Given the description of an element on the screen output the (x, y) to click on. 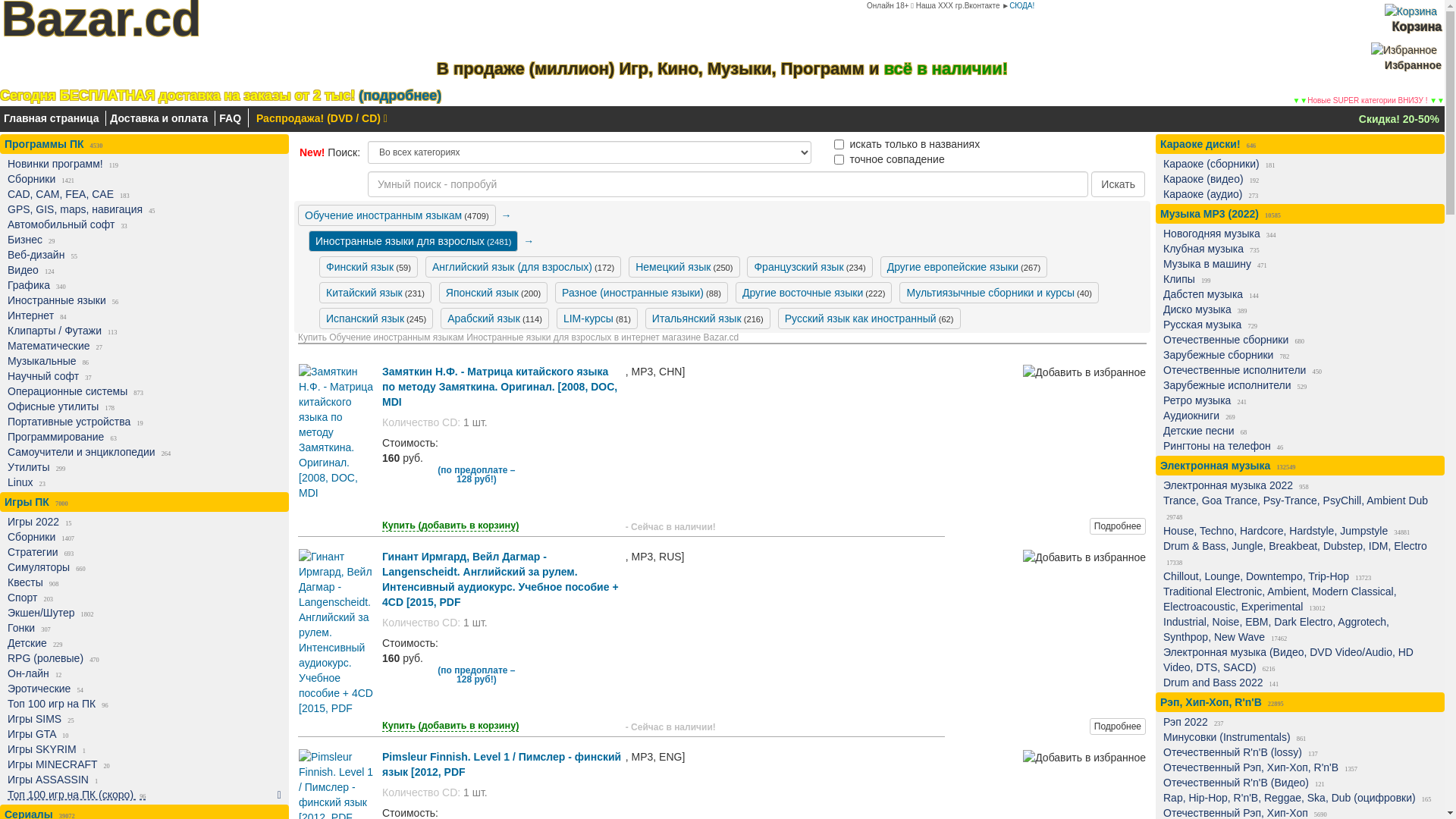
Chillout, Lounge, Downtempo, Trip-Hop 13723 Element type: text (1296, 575)
Linux 23 Element type: text (140, 481)
CAD, CAM, FEA, CAE 183 Element type: text (140, 193)
House, Techno, Hardcore, Hardstyle, Jumpstyle 34881 Element type: text (1296, 530)
FAQ Element type: text (230, 118)
Drum & Bass, Jungle, Breakbeat, Dubstep, IDM, Electro 17338 Element type: text (1296, 553)
Drum and Bass 2022 141 Element type: text (1296, 682)
Trance, Goa Trance, Psy-Trance, PsyChill, Ambient Dub 29748 Element type: text (1296, 507)
